Given the description of an element on the screen output the (x, y) to click on. 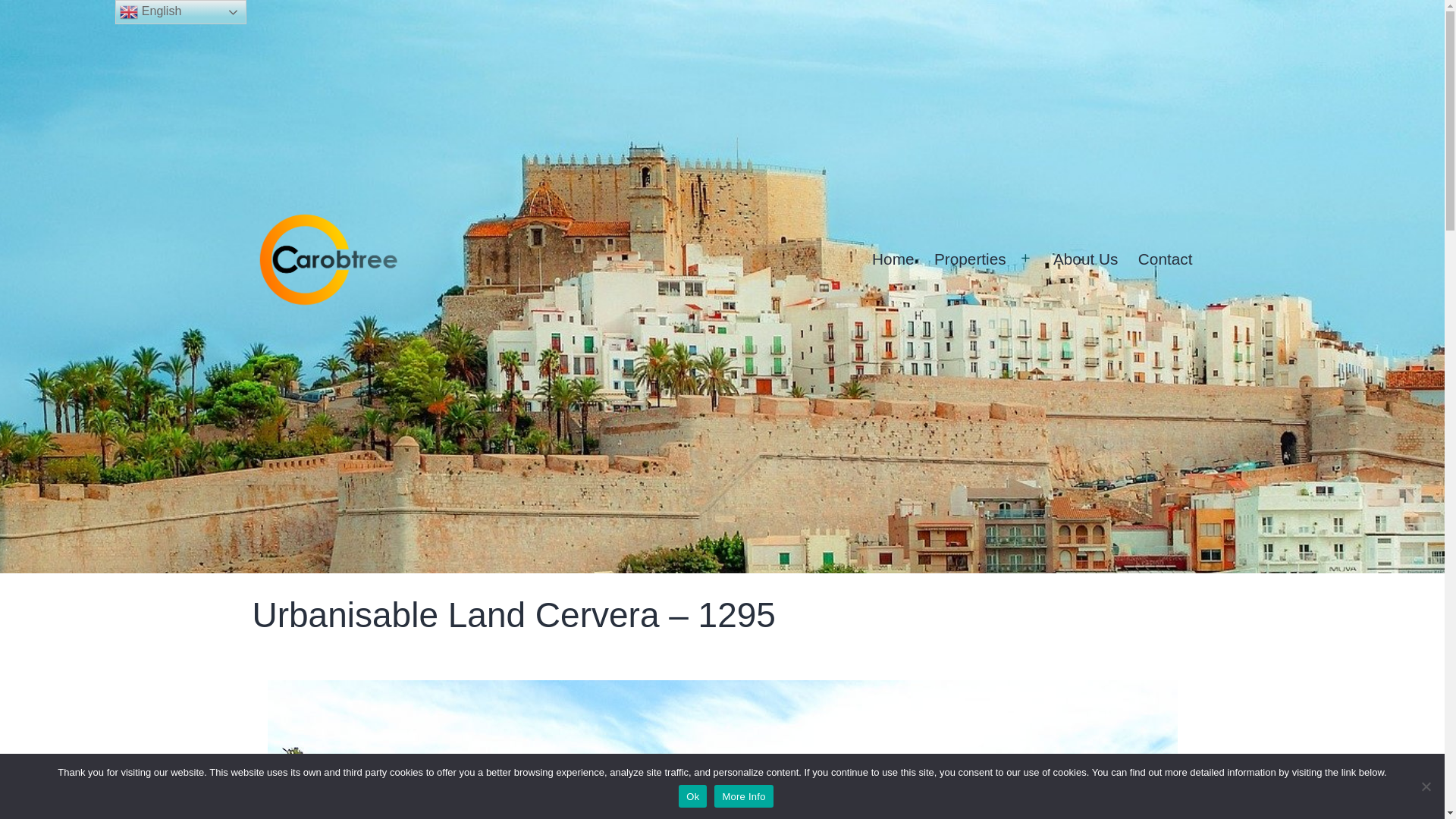
Properties (970, 259)
About Us (1085, 259)
Ok (692, 795)
Home (892, 259)
Contact (1165, 259)
English (180, 12)
